Given the description of an element on the screen output the (x, y) to click on. 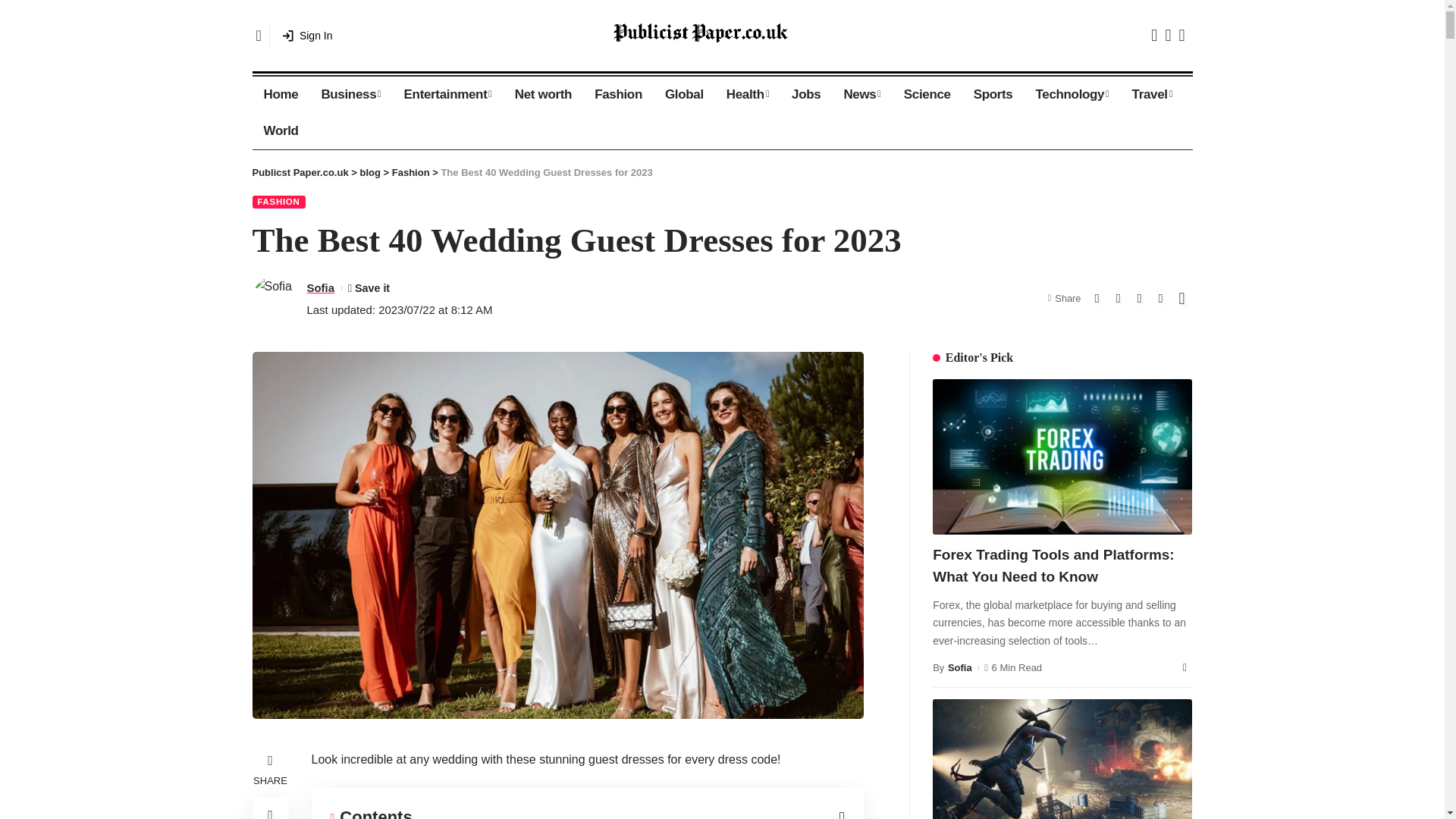
Forex Trading Tools and Platforms: What You Need to Know (1062, 456)
Sign In (307, 35)
News (861, 94)
Health (747, 94)
World (279, 131)
Entertainment (448, 94)
Home (279, 94)
Net worth (543, 94)
Go to blog. (369, 172)
The Thrilling World of Action Games (1062, 759)
Business (349, 94)
Sports (993, 94)
Go to Publicst Paper.co.uk. (299, 172)
Travel (1152, 94)
Fashion (618, 94)
